Given the description of an element on the screen output the (x, y) to click on. 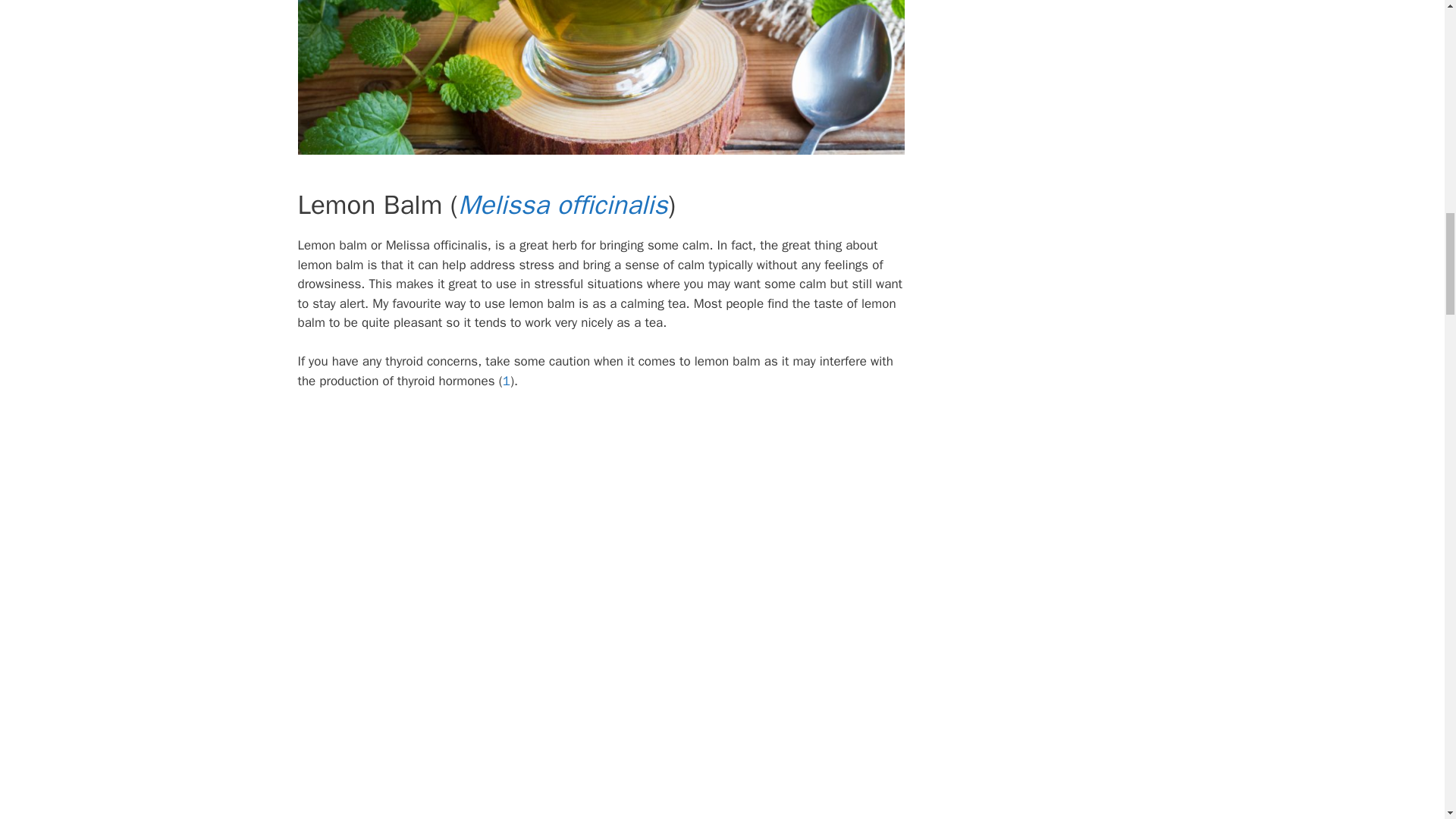
Melissa officinalis (562, 204)
